Given the description of an element on the screen output the (x, y) to click on. 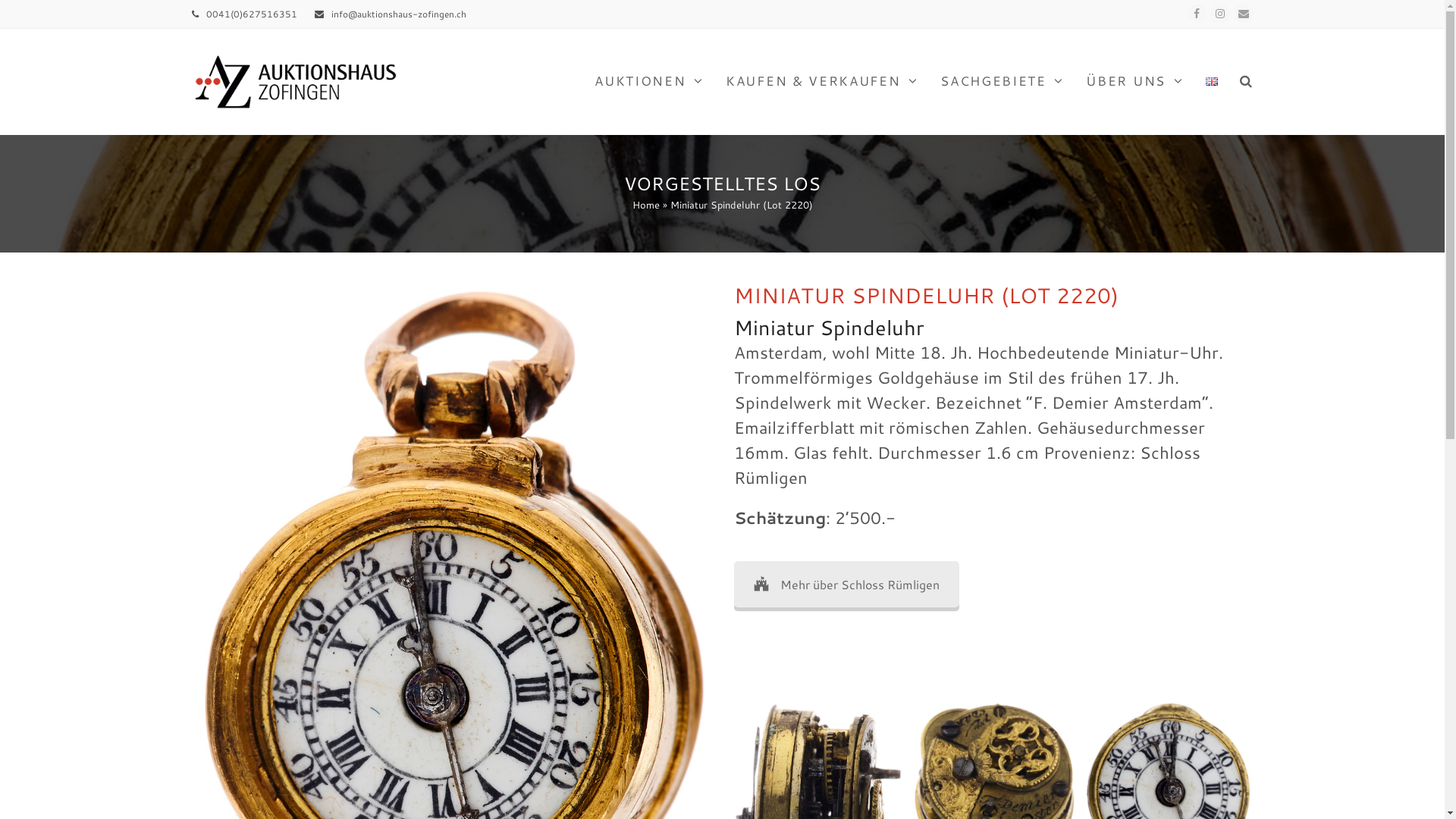
Instagram Element type: text (1220, 13)
KAUFEN & VERKAUFEN Element type: text (821, 81)
AUKTIONEN Element type: text (648, 81)
Email Element type: text (1242, 13)
Facebook Element type: text (1195, 13)
SACHGEBIETE Element type: text (1001, 81)
Home Element type: text (645, 204)
